Given the description of an element on the screen output the (x, y) to click on. 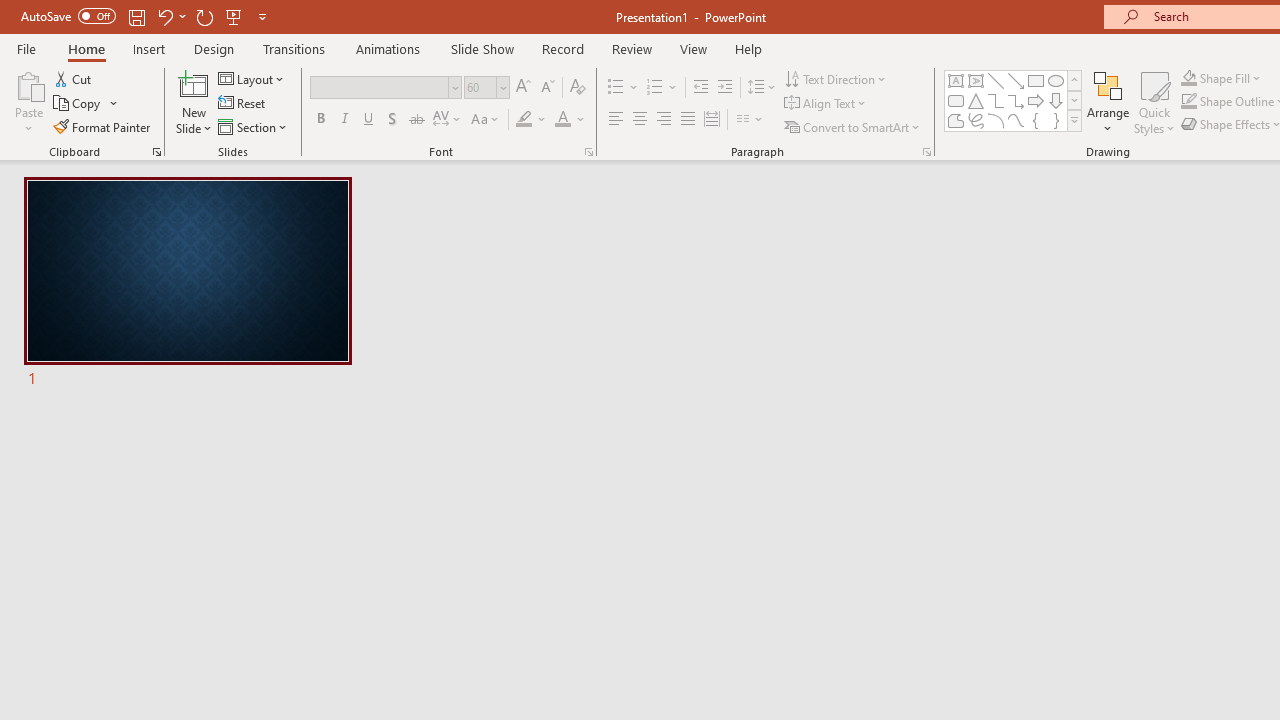
Text Highlight Color Yellow (524, 119)
Decrease Font Size (547, 87)
Text Direction (836, 78)
Bullets (623, 87)
Strikethrough (416, 119)
Paste (28, 102)
Cut (73, 78)
Arrow: Down (1055, 100)
Arc (995, 120)
Rectangle (1035, 80)
Shapes (1074, 120)
New Slide (193, 102)
Office Clipboard... (156, 151)
